Given the description of an element on the screen output the (x, y) to click on. 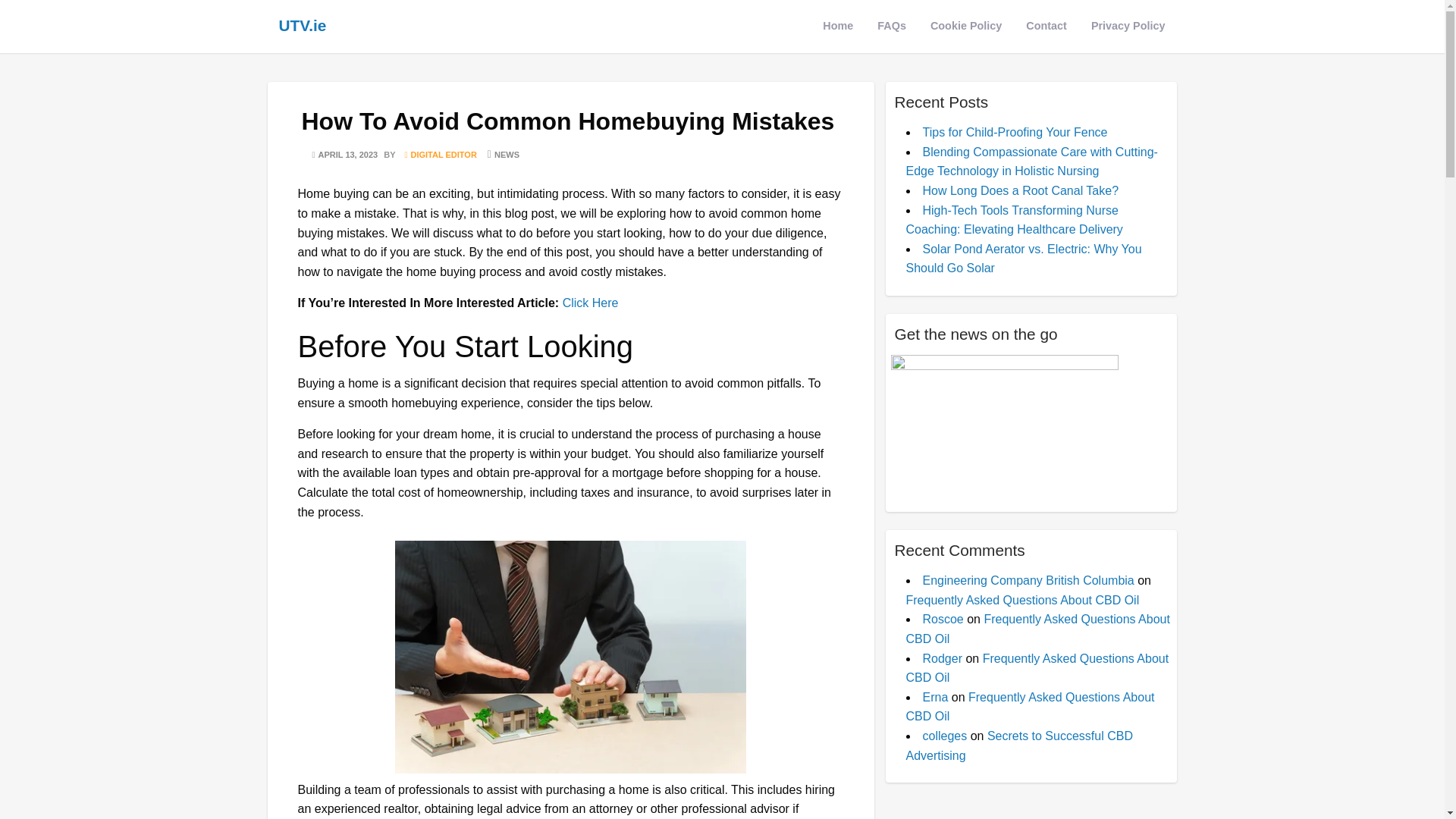
Contact (1045, 25)
APRIL 13, 2023 (342, 154)
FAQs (891, 25)
DIGITAL EDITOR (438, 154)
UTV.ie (302, 25)
Home (837, 25)
Click Here (590, 302)
Cookie Policy (965, 25)
Privacy Policy (1127, 25)
NEWS (501, 154)
